Given the description of an element on the screen output the (x, y) to click on. 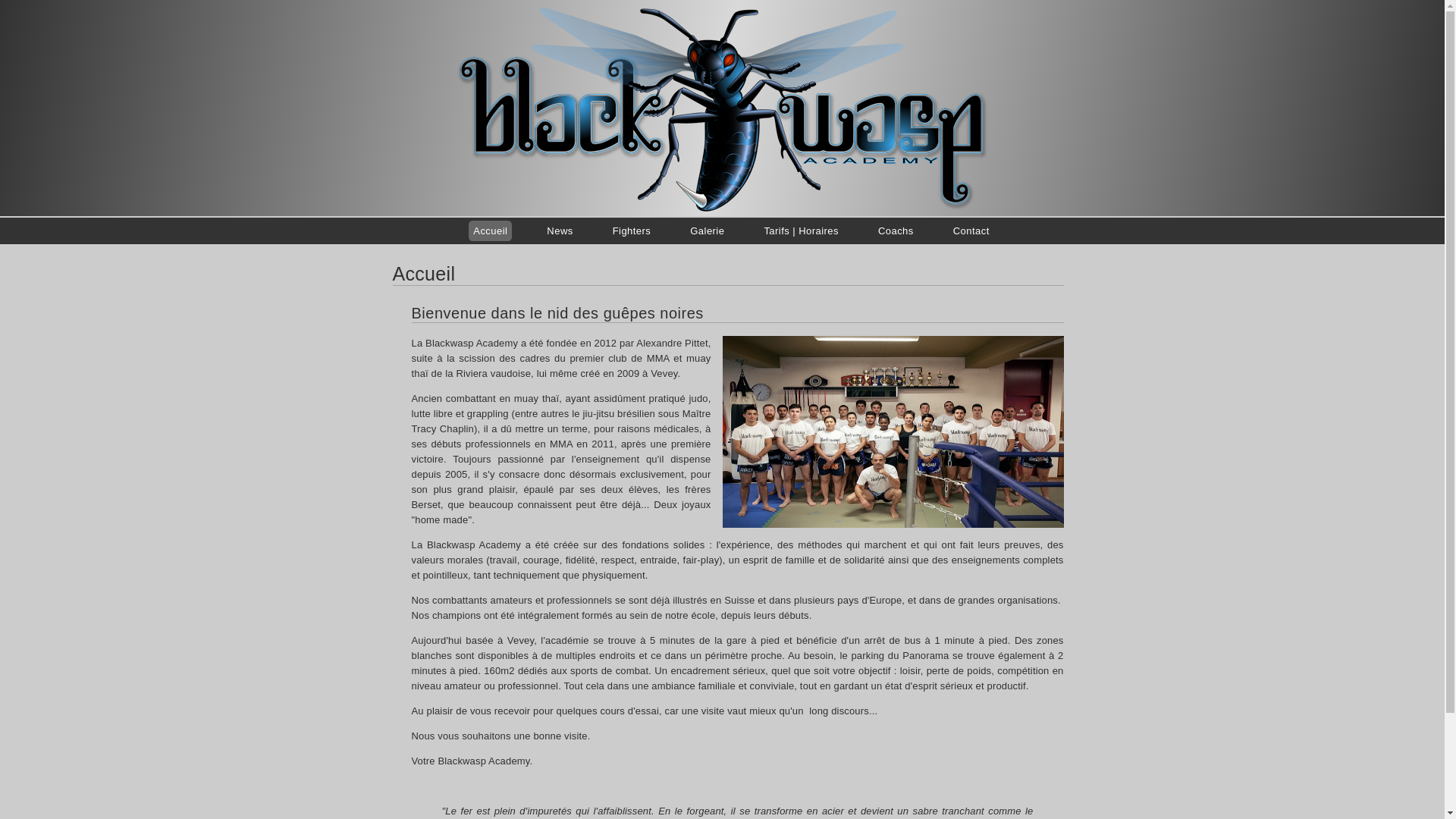
Tarifs | Horaires Element type: text (801, 230)
News Element type: text (559, 230)
Accueil Element type: text (489, 230)
Coachs Element type: text (895, 230)
Contact Element type: text (971, 230)
Galerie Element type: text (706, 230)
Fighters Element type: text (631, 230)
